Given the description of an element on the screen output the (x, y) to click on. 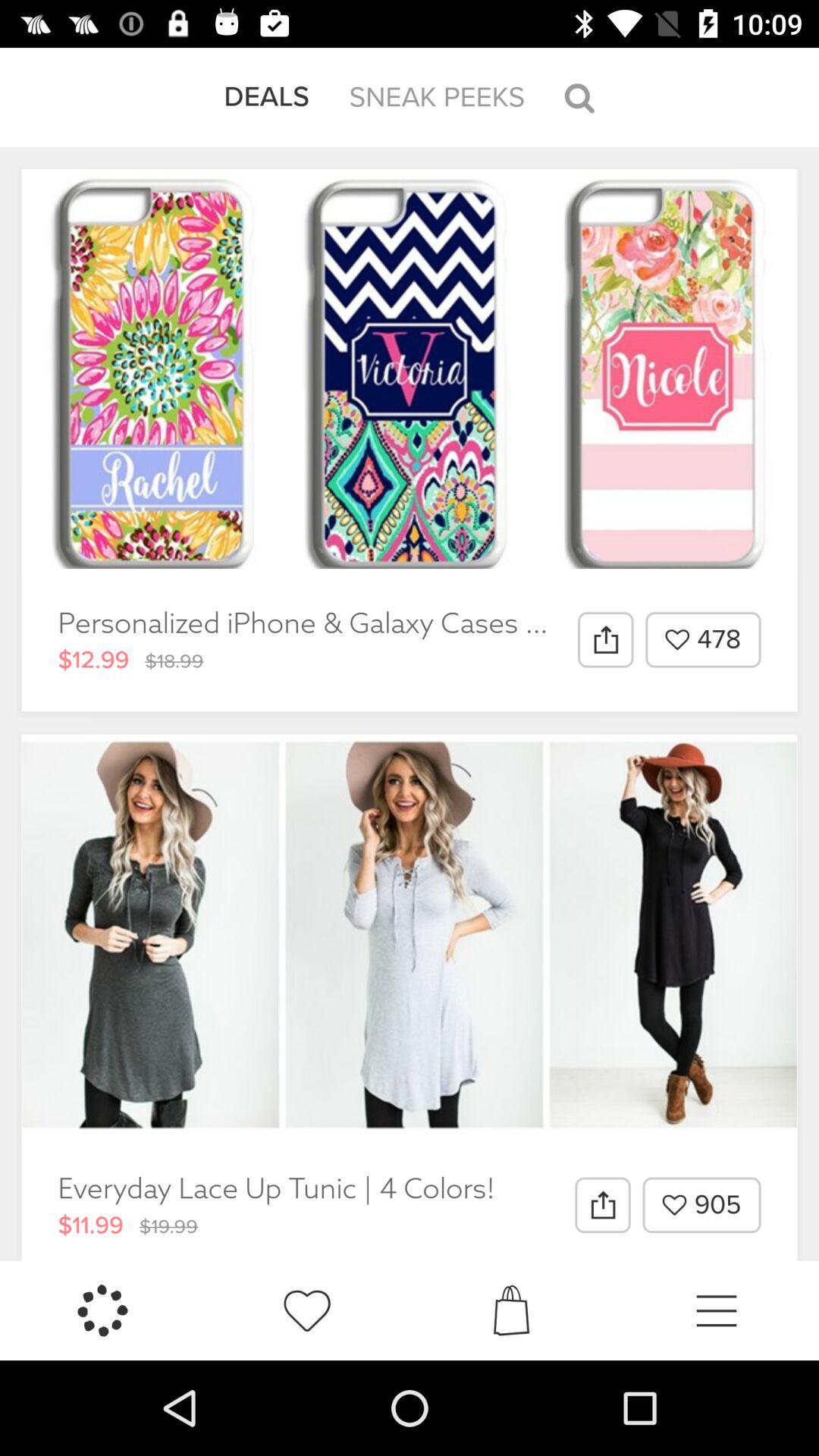
open item at the top left corner (266, 97)
